Given the description of an element on the screen output the (x, y) to click on. 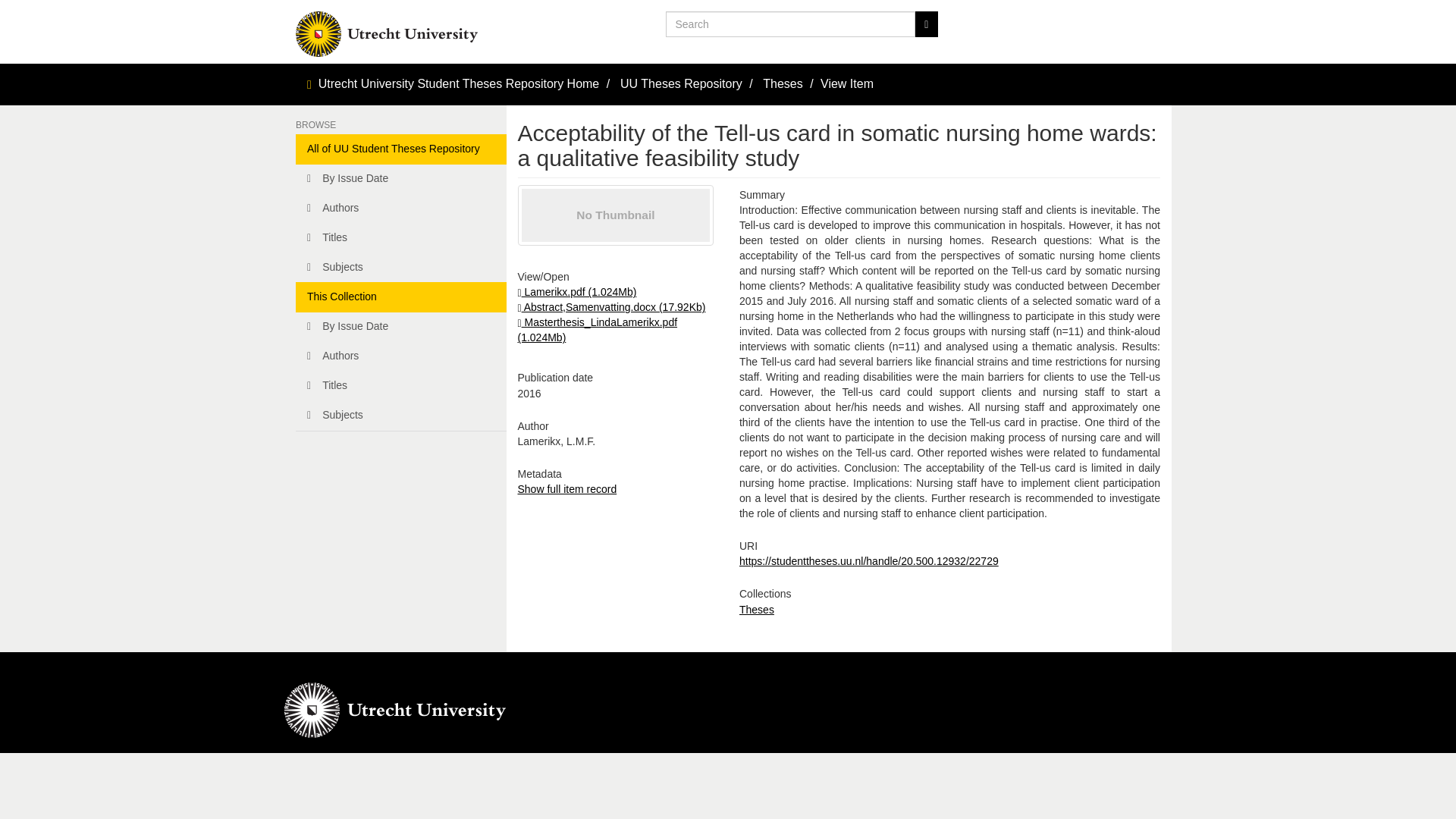
By Issue Date (400, 178)
Titles (400, 386)
Authors (400, 208)
Authors (400, 356)
Go (925, 23)
Show full item record (565, 489)
By Issue Date (400, 327)
Titles (400, 237)
Utrecht University Student Theses Repository Home (458, 83)
UU Theses Repository (681, 83)
Subjects (400, 415)
All of UU Student Theses Repository (400, 149)
Theses (756, 609)
Theses (782, 83)
This Collection (400, 296)
